Given the description of an element on the screen output the (x, y) to click on. 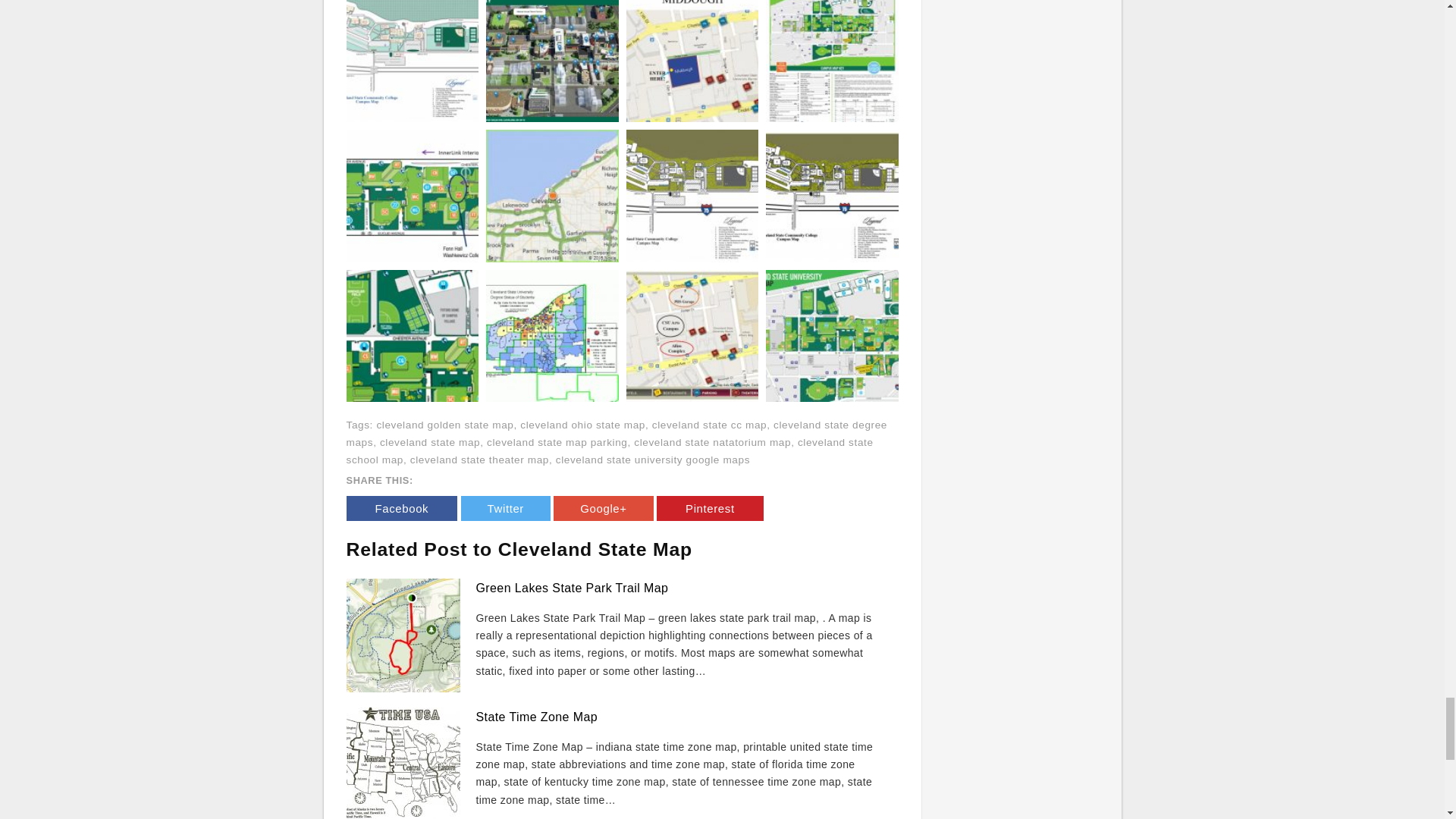
cleveland state natatorium map (711, 441)
cleveland state theater map (479, 460)
Facebook (401, 508)
Green Lakes State Park Trail Map (572, 587)
Pinterest (709, 508)
cleveland state degree maps (616, 433)
cleveland state university google maps (652, 460)
cleveland state map parking (556, 441)
cleveland state map (430, 441)
cleveland golden state map (444, 424)
cleveland state cc map (709, 424)
cleveland state school map (609, 451)
Twitter (505, 508)
cleveland ohio state map (582, 424)
